Given the description of an element on the screen output the (x, y) to click on. 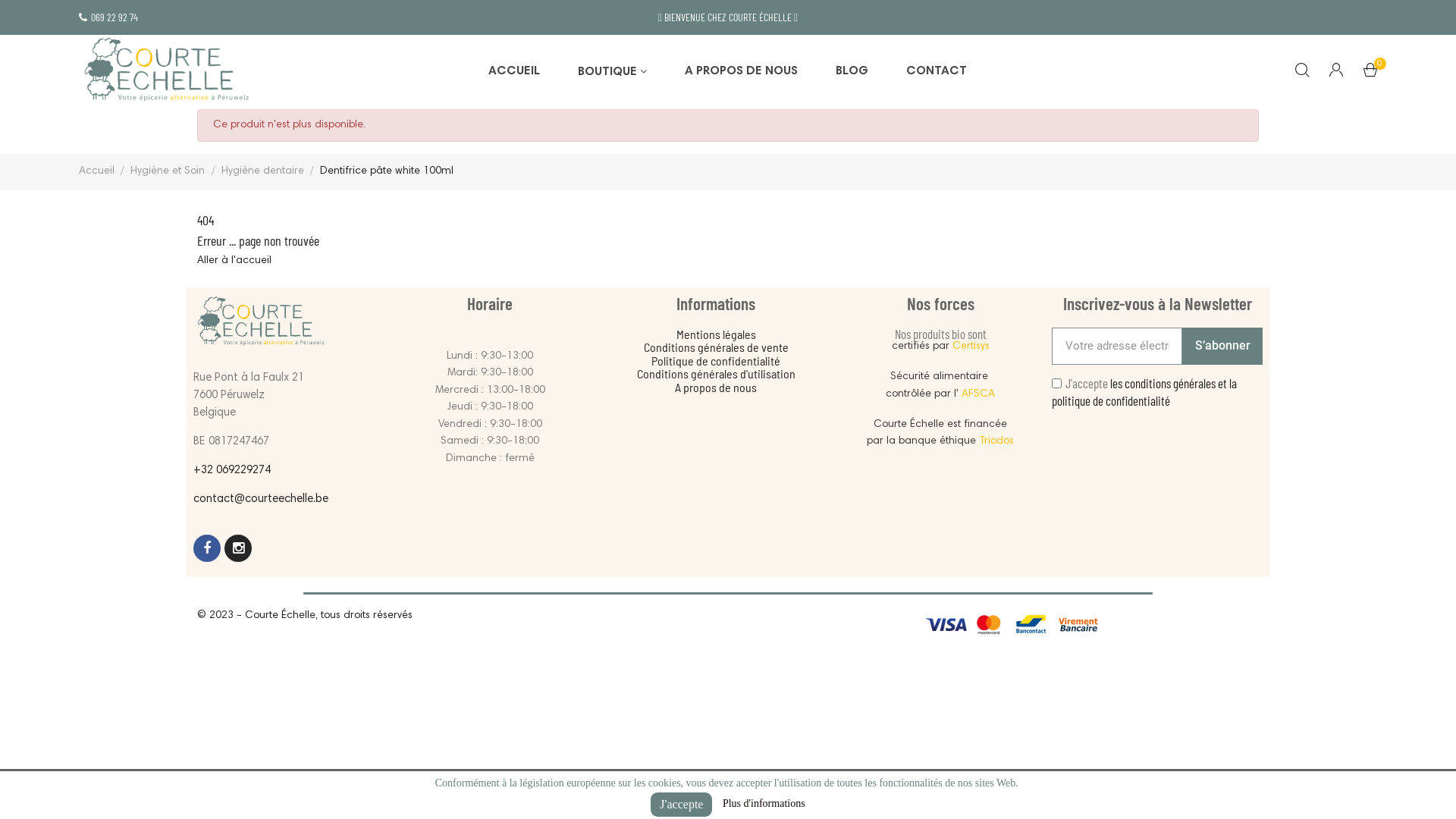
Connexion Element type: hover (1336, 71)
AFSCA Element type: text (977, 394)
A propos de nous Element type: text (715, 386)
Triodos Element type: text (996, 441)
Plus d'informations Element type: text (763, 803)
069 22 92 74 Element type: text (108, 16)
BLOG Element type: text (851, 71)
+32 069229274 Element type: text (231, 470)
0 Element type: text (1370, 73)
A PROPOS DE NOUS Element type: text (740, 71)
ACCUEIL Element type: text (513, 71)
BOUTIQUE Element type: text (611, 71)
J'accepte Element type: text (681, 804)
Certisys Element type: text (970, 346)
Accueil Element type: text (97, 171)
CONTACT Element type: text (936, 71)
contact@courteechelle.be Element type: text (260, 499)
Nos produits bio sont Element type: text (940, 333)
